Given the description of an element on the screen output the (x, y) to click on. 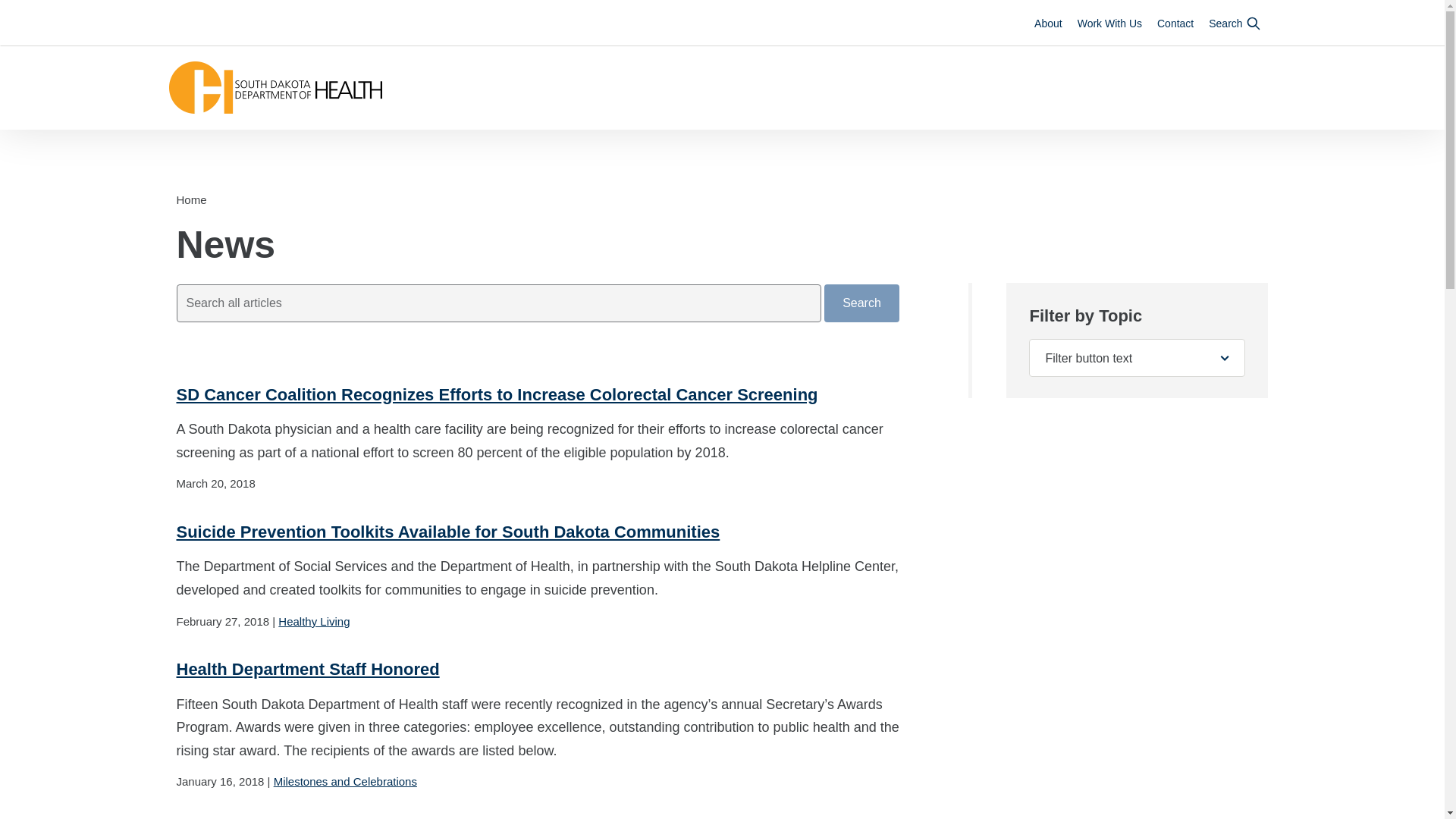
About (1047, 23)
Contact (1175, 23)
Search (1234, 23)
Search (861, 302)
Work With Us (1109, 23)
